Given the description of an element on the screen output the (x, y) to click on. 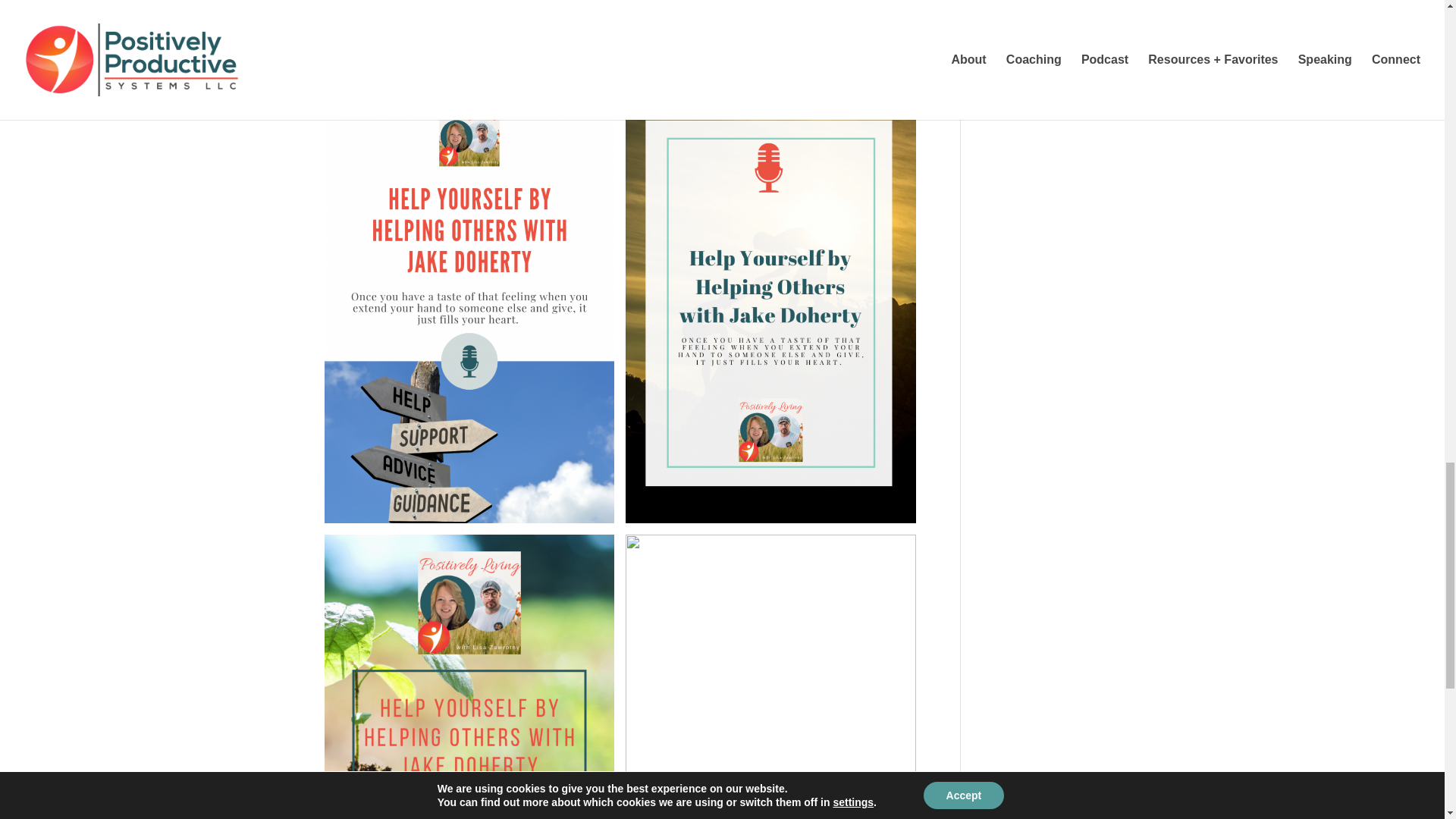
Volume 1 (441, 5)
Volume 2 (503, 5)
